Given the description of an element on the screen output the (x, y) to click on. 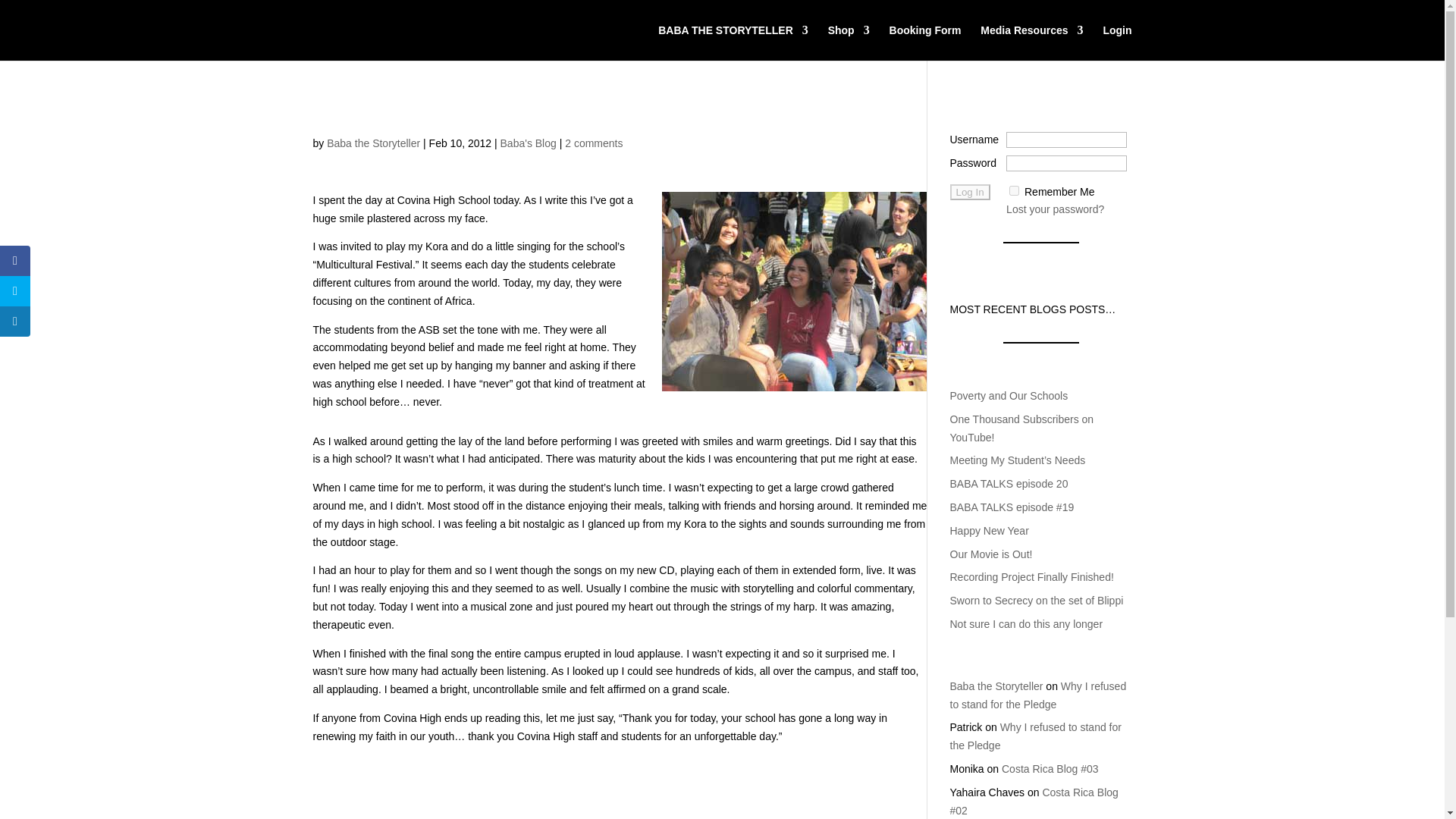
Booking Form (924, 42)
Shop (848, 42)
Baba's Blog (528, 143)
Our Movie is Out! (990, 553)
Happy New Year (988, 530)
BABA THE STORYTELLER (733, 42)
Recording Project Finally Finished! (1031, 576)
covina-high - BABA THE STORYTELLER (793, 291)
Media Resources (1031, 42)
Poverty and Our Schools (1008, 395)
